Given the description of an element on the screen output the (x, y) to click on. 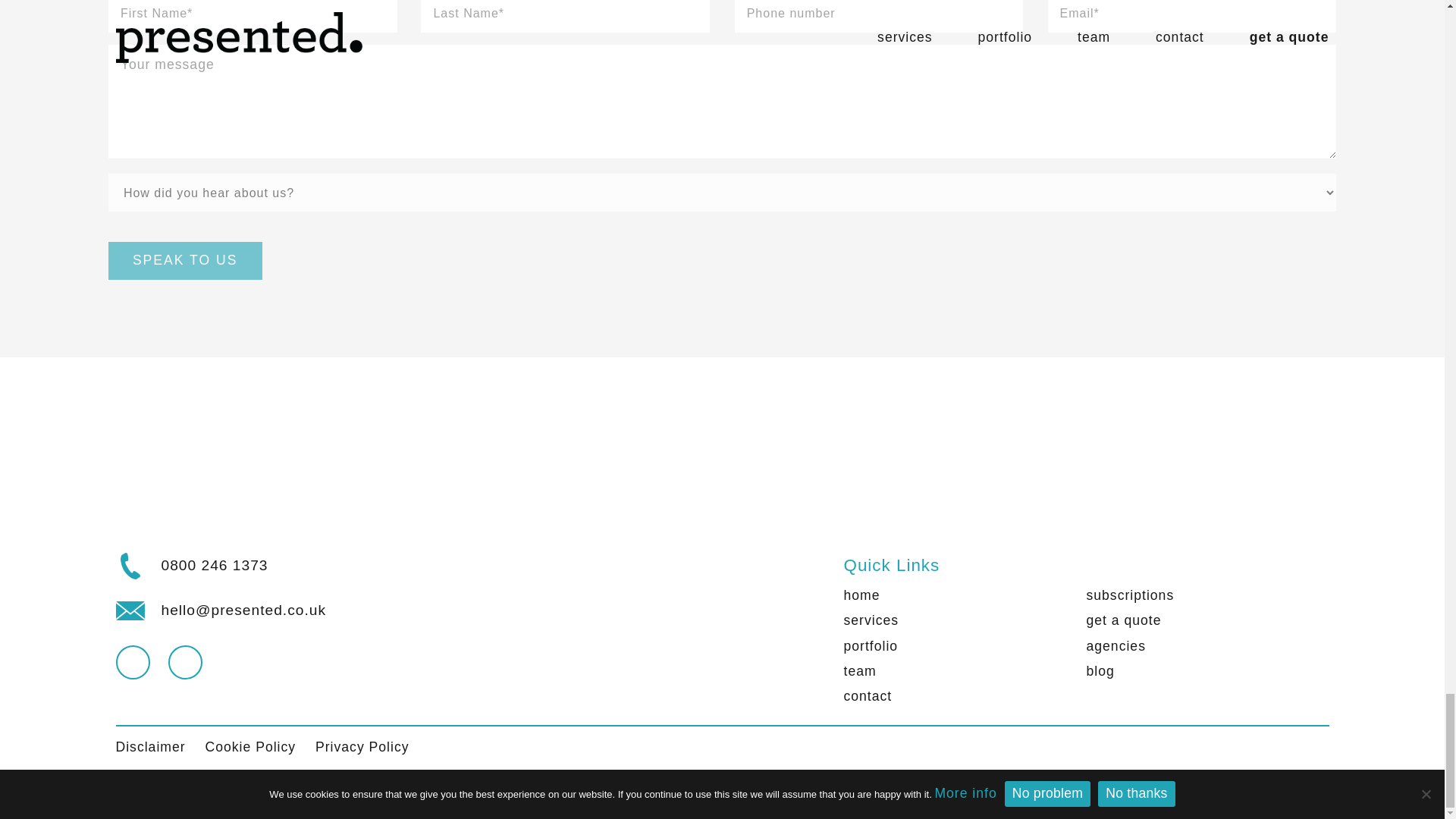
Speak to us (184, 260)
